Given the description of an element on the screen output the (x, y) to click on. 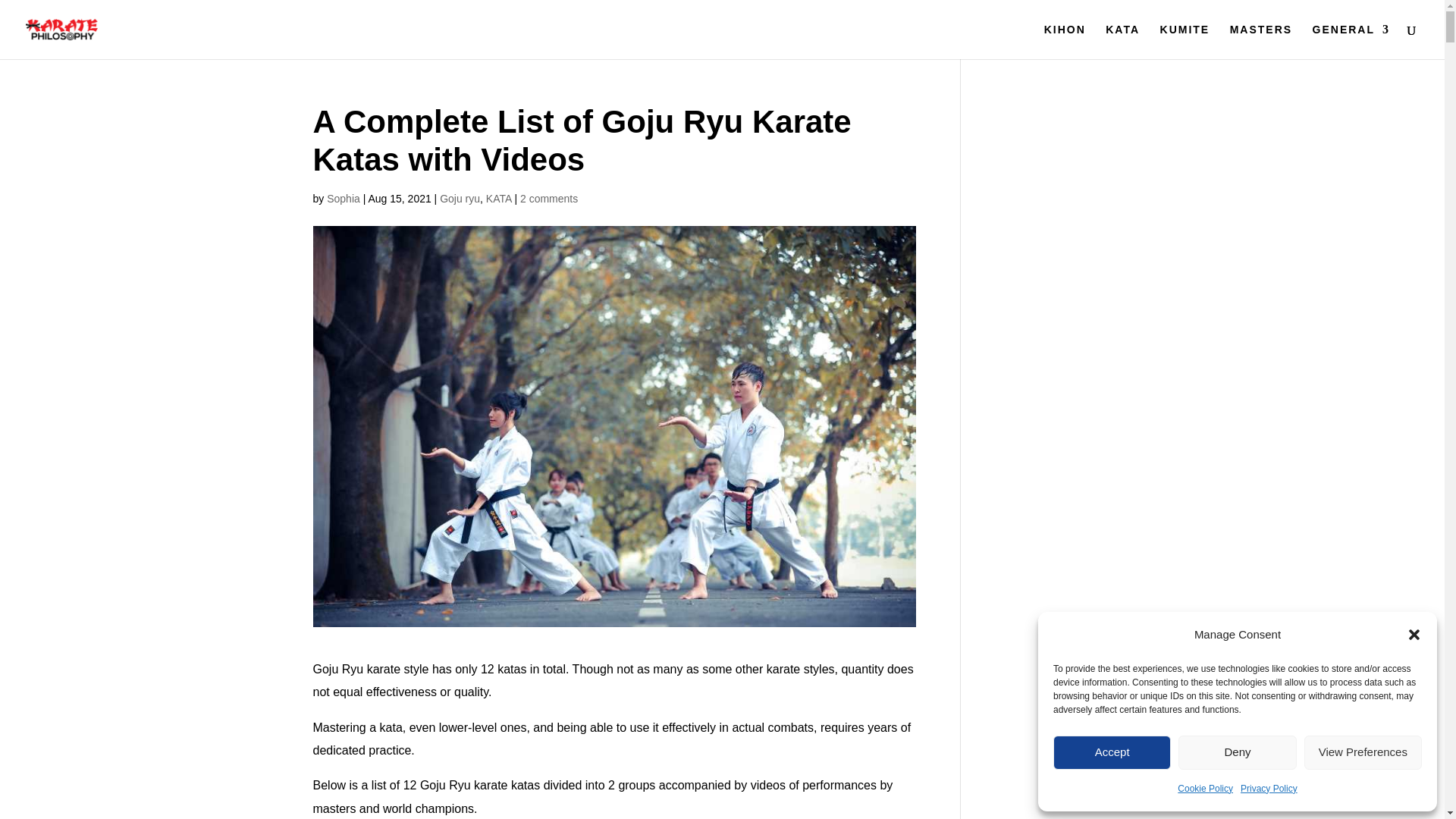
MASTERS (1261, 41)
KUMITE (1184, 41)
Deny (1236, 752)
View Preferences (1363, 752)
GENERAL (1351, 41)
Sophia (342, 198)
Posts by Sophia (342, 198)
KIHON (1064, 41)
KATA (1122, 41)
Accept (1111, 752)
KATA (499, 198)
Cookie Policy (1205, 788)
Privacy Policy (1268, 788)
2 comments (548, 198)
Goju ryu (459, 198)
